Given the description of an element on the screen output the (x, y) to click on. 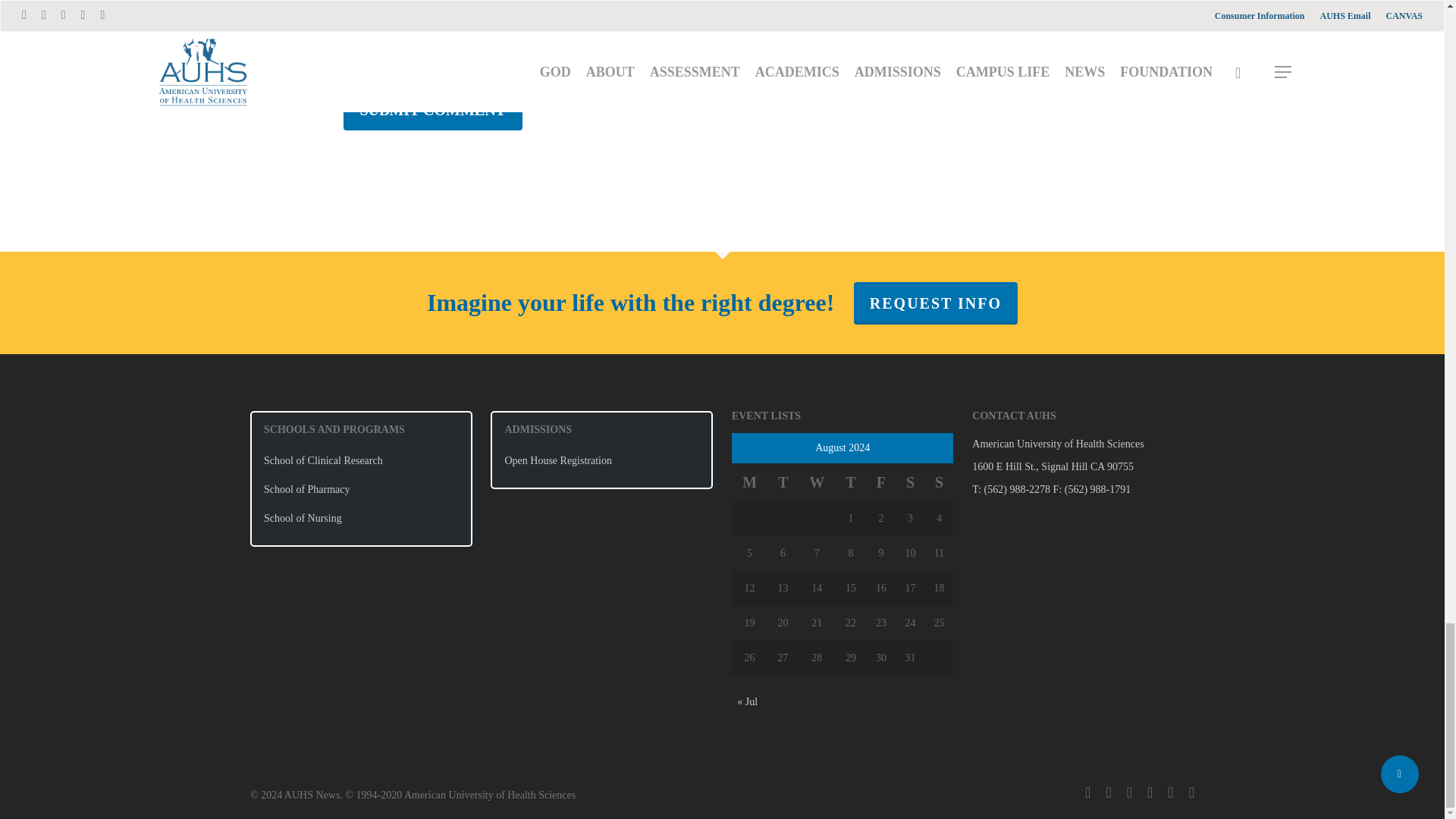
yes (350, 41)
Wednesday (816, 482)
Monday (749, 482)
Submit Comment (431, 110)
School of Clinical Research (360, 460)
REQUEST INFO (935, 302)
Submit Comment (431, 110)
